Given the description of an element on the screen output the (x, y) to click on. 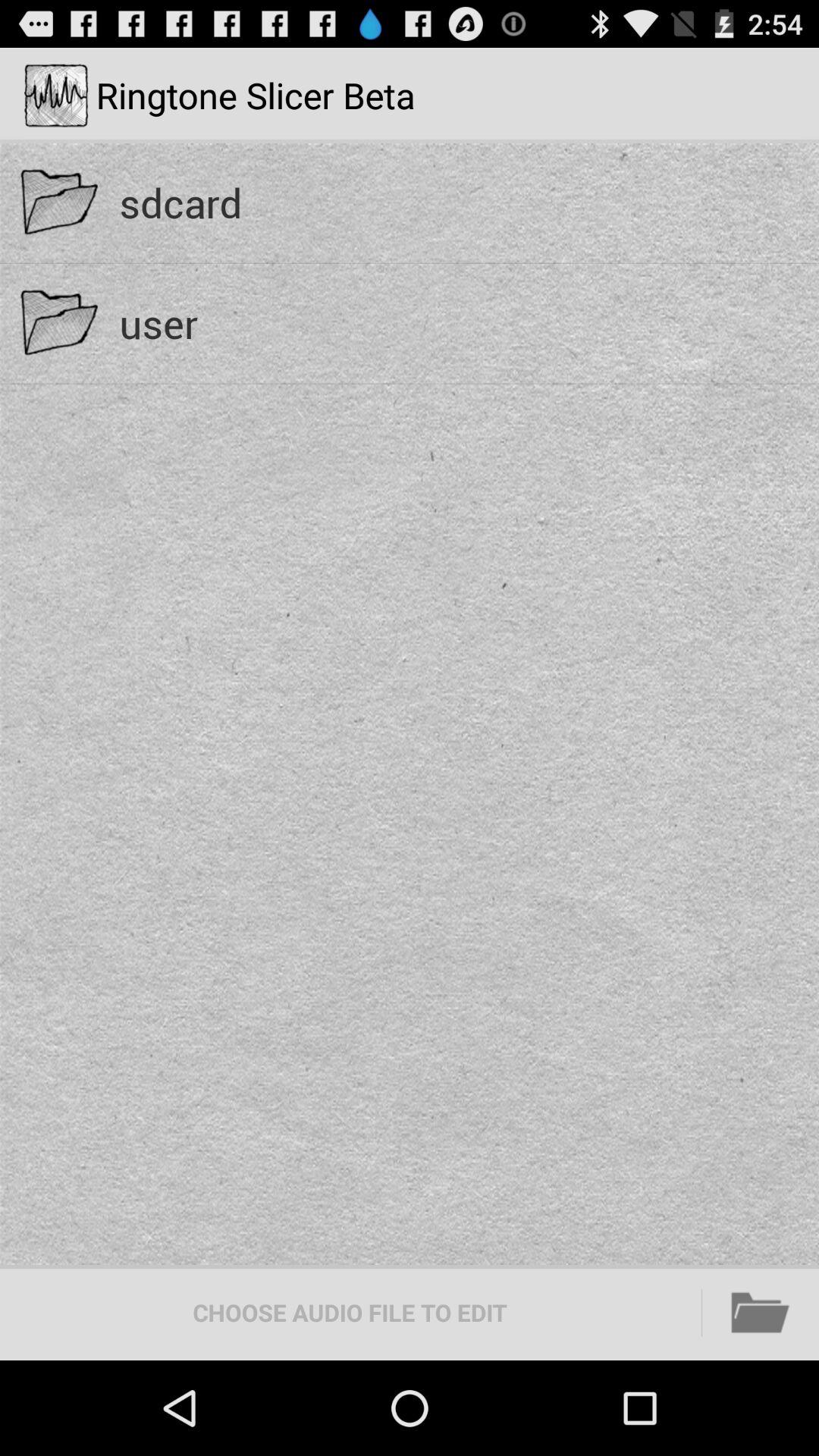
turn on the choose audio file at the bottom (349, 1312)
